Given the description of an element on the screen output the (x, y) to click on. 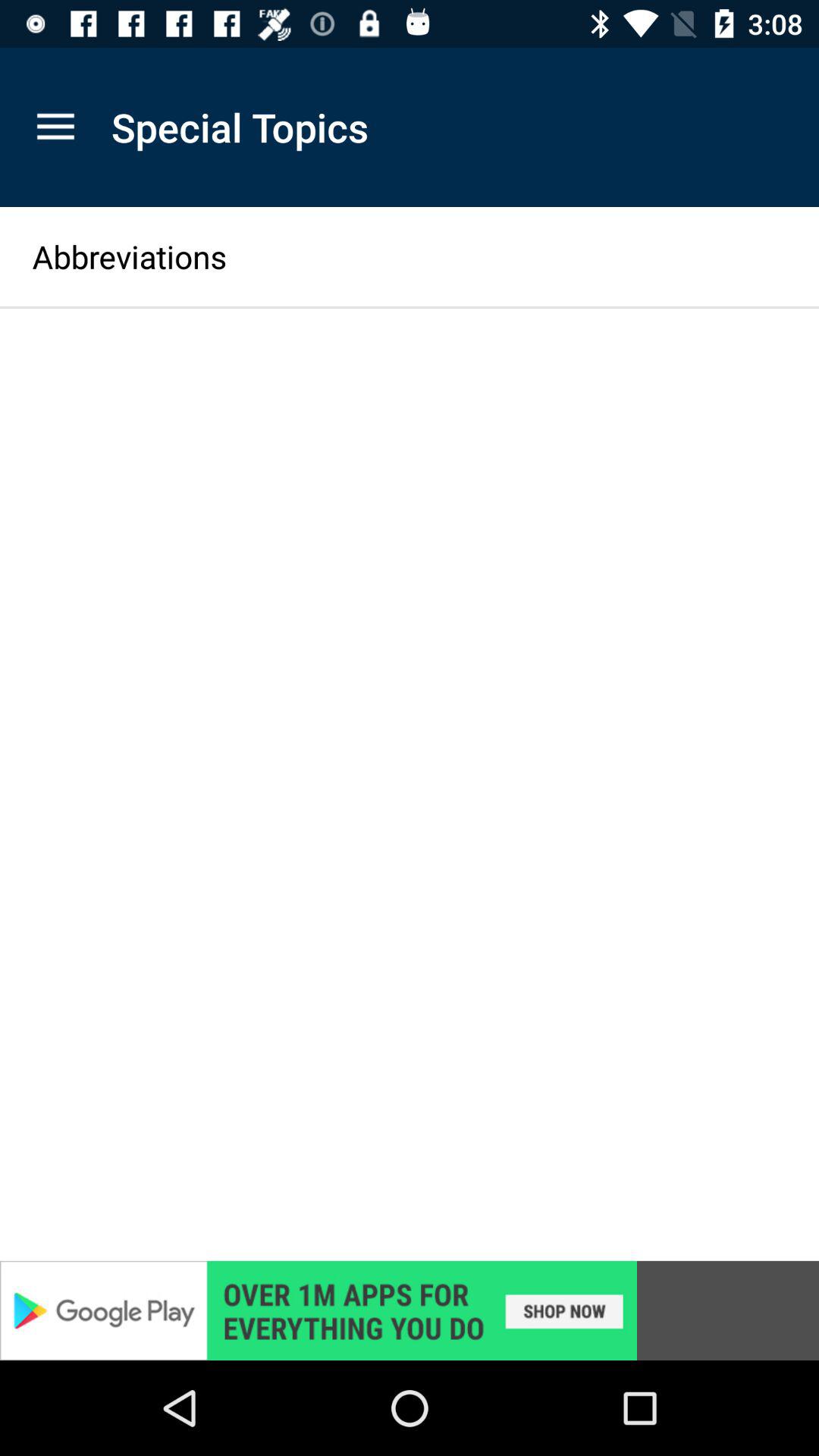
advertisement area (409, 1310)
